Given the description of an element on the screen output the (x, y) to click on. 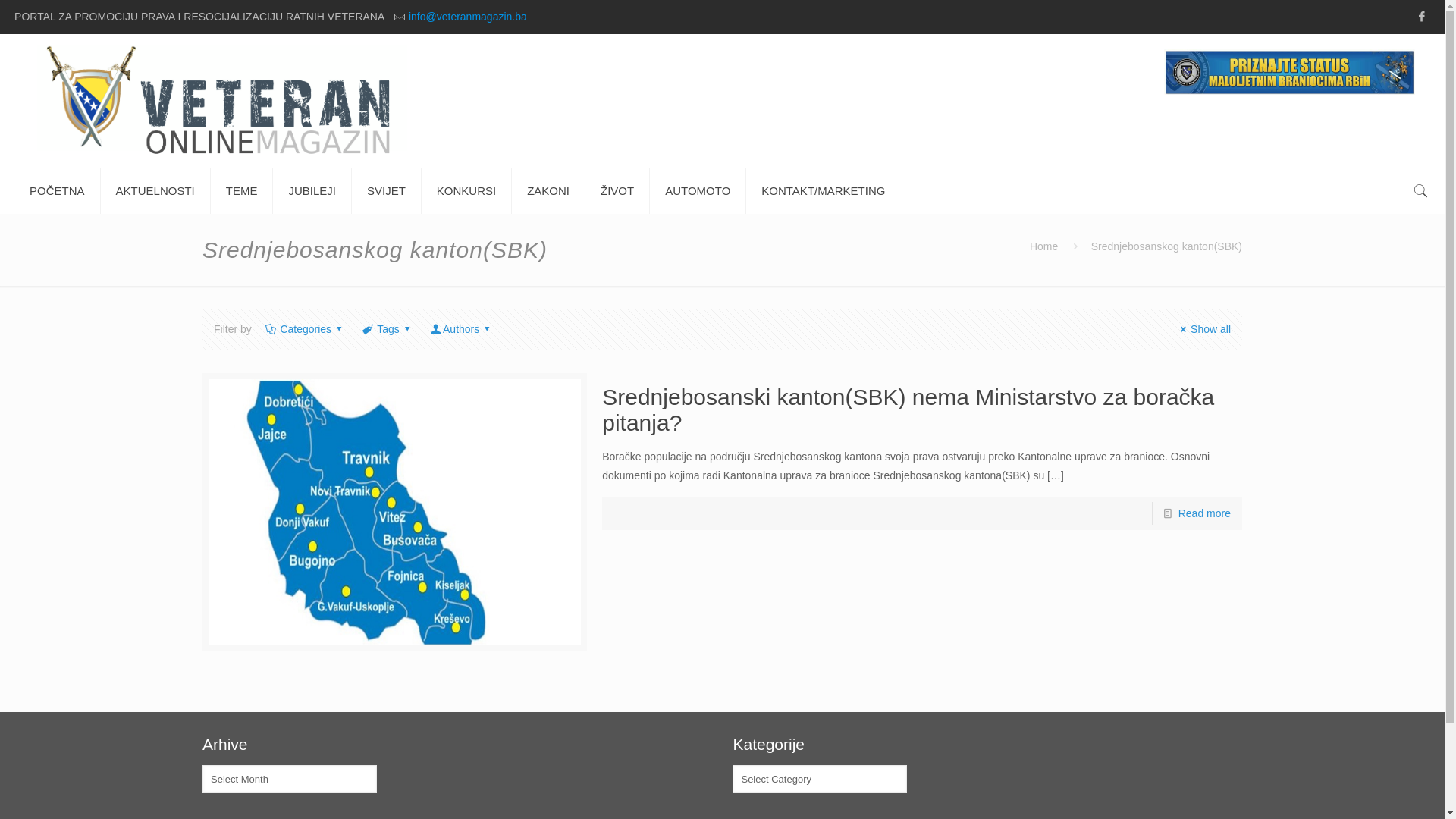
KONTAKT/MARKETING Element type: text (823, 190)
Home Element type: text (1043, 246)
AKTUELNOSTI Element type: text (155, 190)
Show all Element type: text (1202, 329)
Categories Element type: text (305, 329)
AUTOMOTO Element type: text (697, 190)
info@veteranmagazin.ba Element type: text (467, 16)
SVIJET Element type: text (386, 190)
Read more Element type: text (1204, 513)
TEME Element type: text (241, 190)
Tags Element type: text (388, 329)
Facebook Element type: hover (1422, 15)
VeteranMagazin Element type: hover (722, 101)
KONKURSI Element type: text (466, 190)
Authors Element type: text (460, 329)
ZAKONI Element type: text (548, 190)
JUBILEJI Element type: text (312, 190)
